Given the description of an element on the screen output the (x, y) to click on. 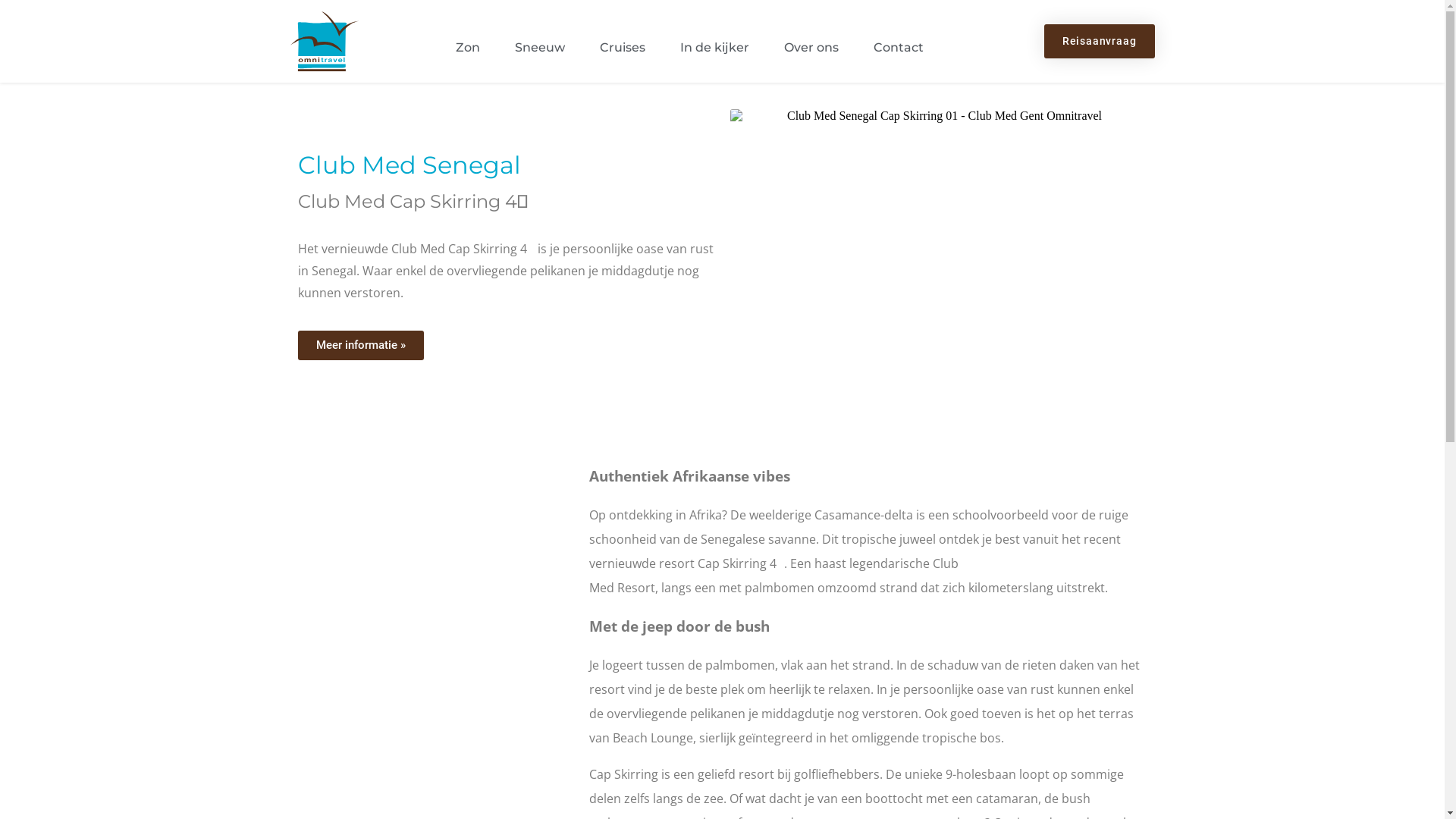
Zon Element type: text (466, 47)
Reisaanvraag Element type: text (1099, 41)
Sneeuw Element type: text (538, 47)
Contact Element type: text (898, 47)
Over ons Element type: text (810, 47)
Cruises Element type: text (621, 47)
In de kijker Element type: text (713, 47)
